Given the description of an element on the screen output the (x, y) to click on. 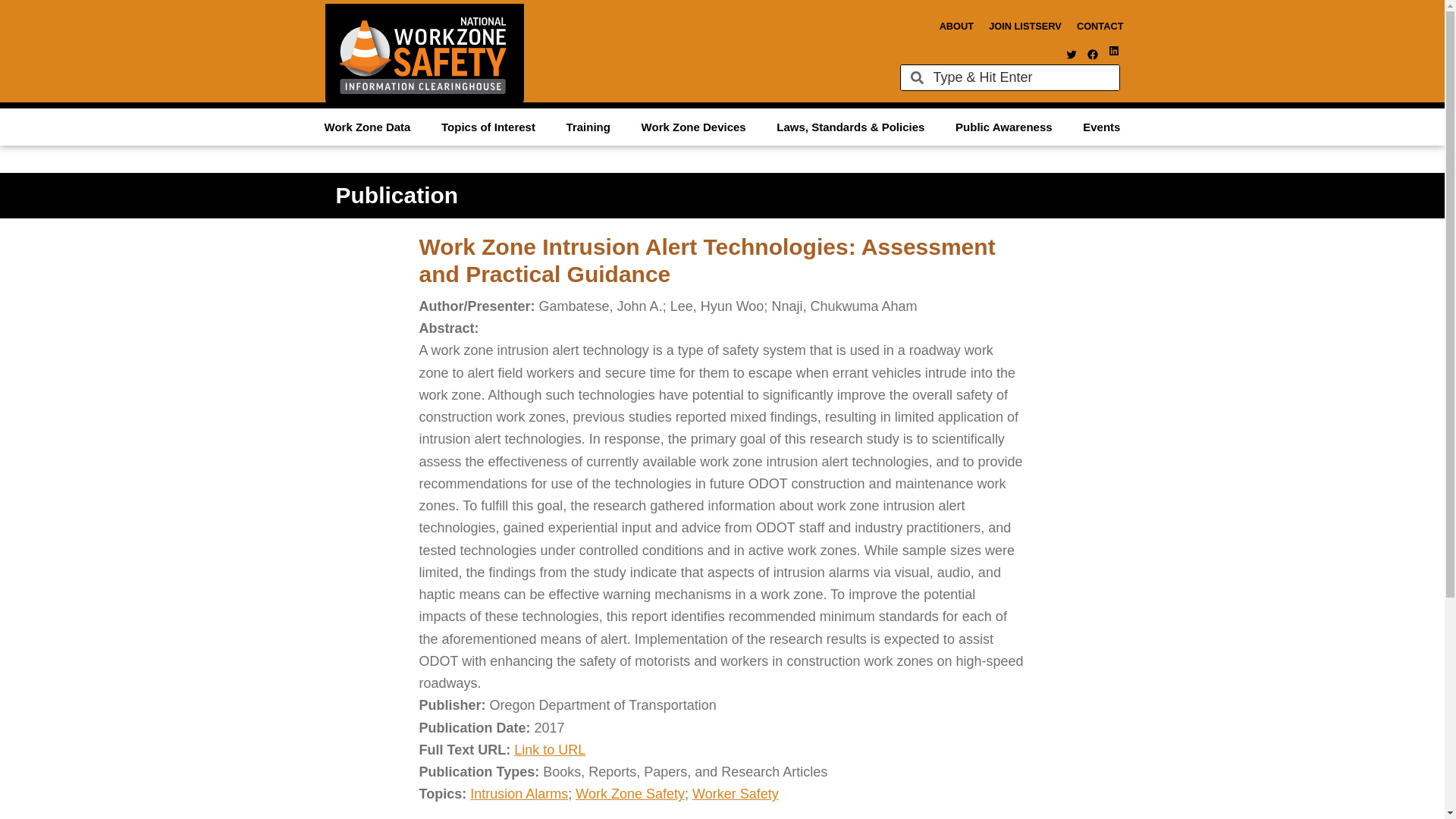
Search (1021, 77)
LINKEDIN (1112, 50)
Events (1101, 126)
Work Zone Devices (693, 126)
Topics of Interest (488, 126)
ABOUT (956, 25)
Work Zone Data (367, 126)
Training (587, 126)
Public Awareness (1003, 126)
TWITTER (1070, 54)
CONTACT (1100, 25)
JOIN LISTSERV (1024, 25)
Link to URL (549, 749)
FACEBOOK (1091, 54)
